Given the description of an element on the screen output the (x, y) to click on. 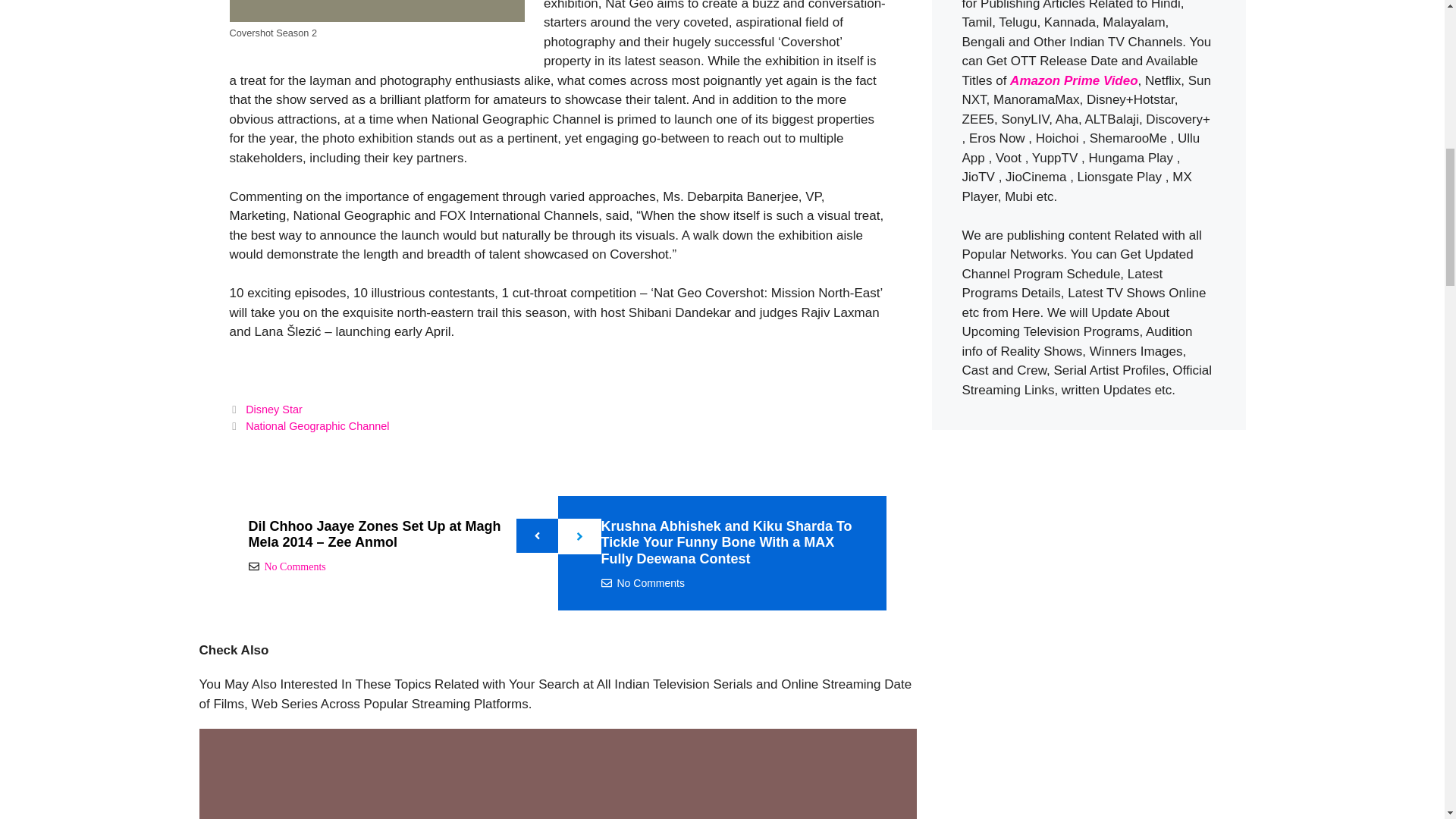
Disney Star (274, 409)
National Geographic Channel (317, 426)
